Given the description of an element on the screen output the (x, y) to click on. 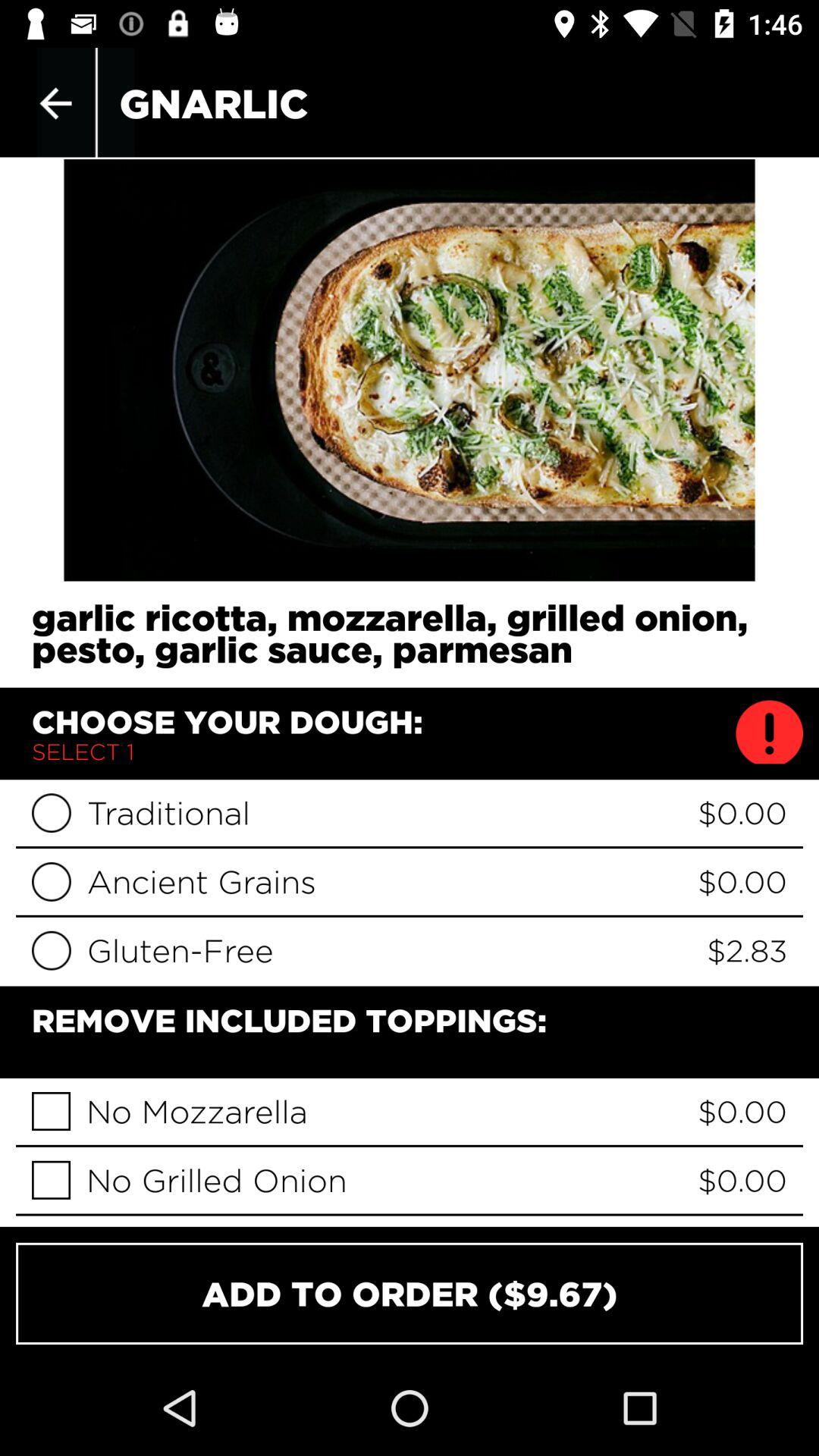
remove topping (50, 1179)
